Given the description of an element on the screen output the (x, y) to click on. 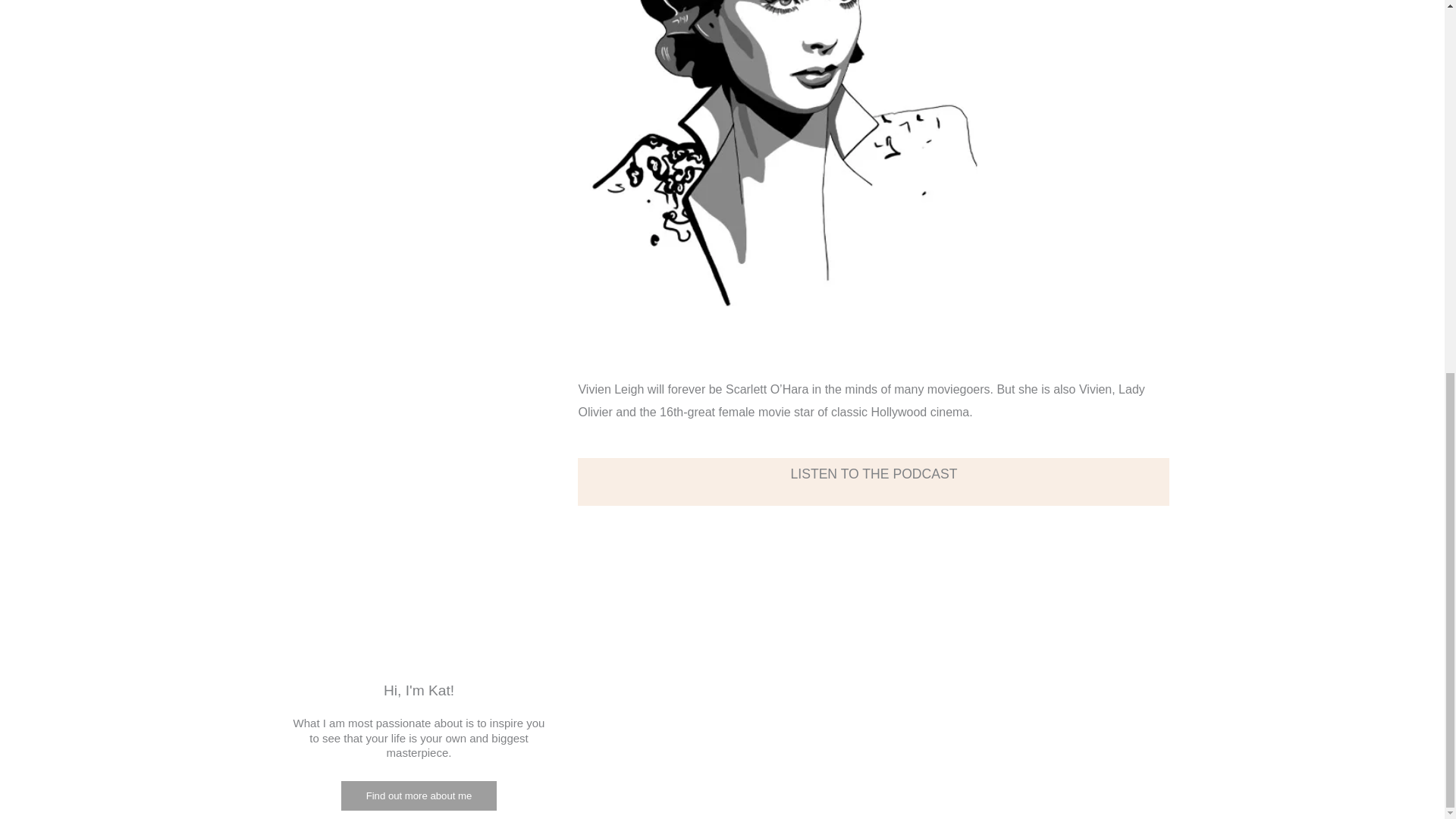
Find out more about me (418, 795)
